Given the description of an element on the screen output the (x, y) to click on. 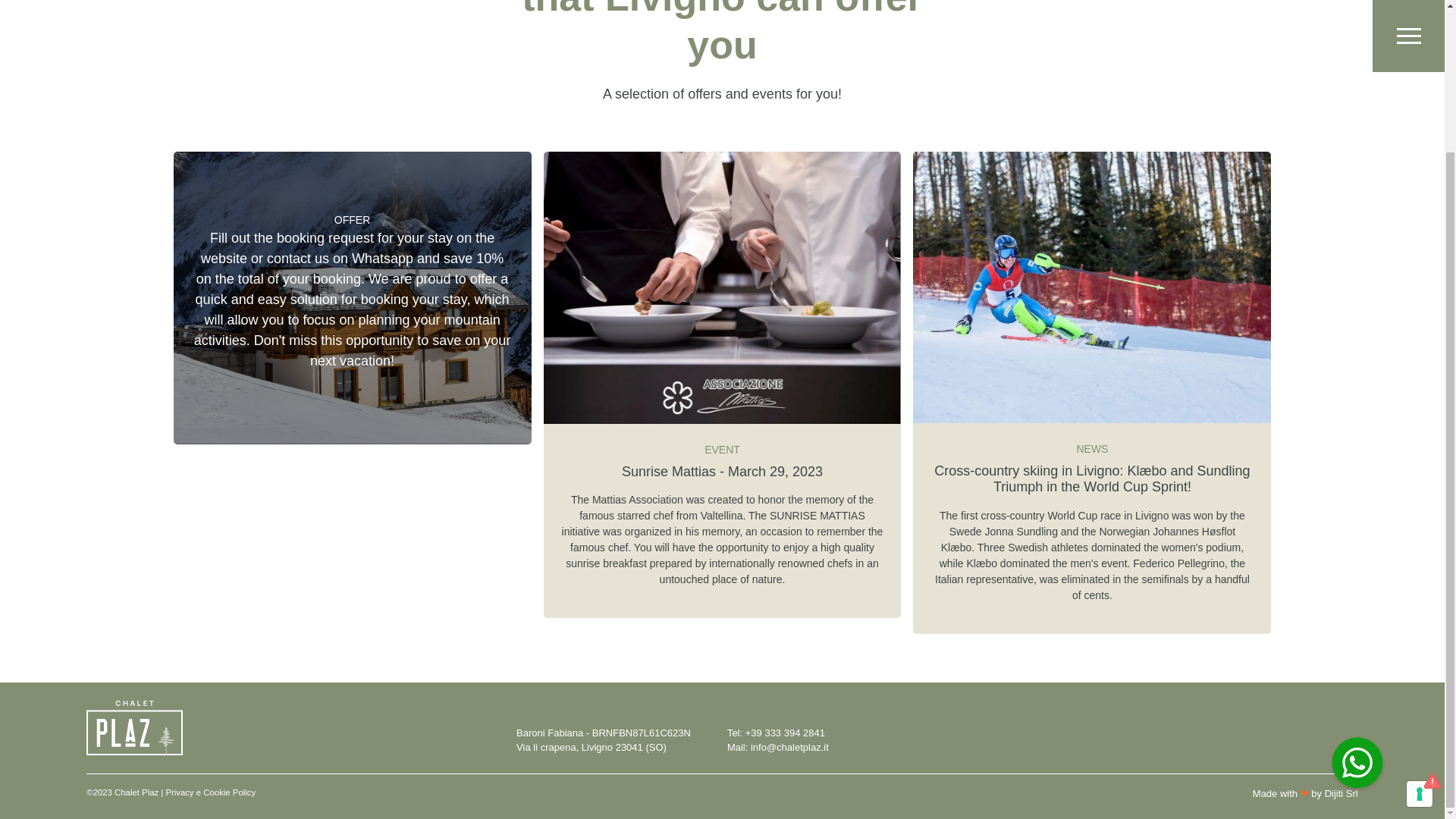
Dijiti Srl (1341, 793)
Privacy e Cookie Policy (210, 793)
